Given the description of an element on the screen output the (x, y) to click on. 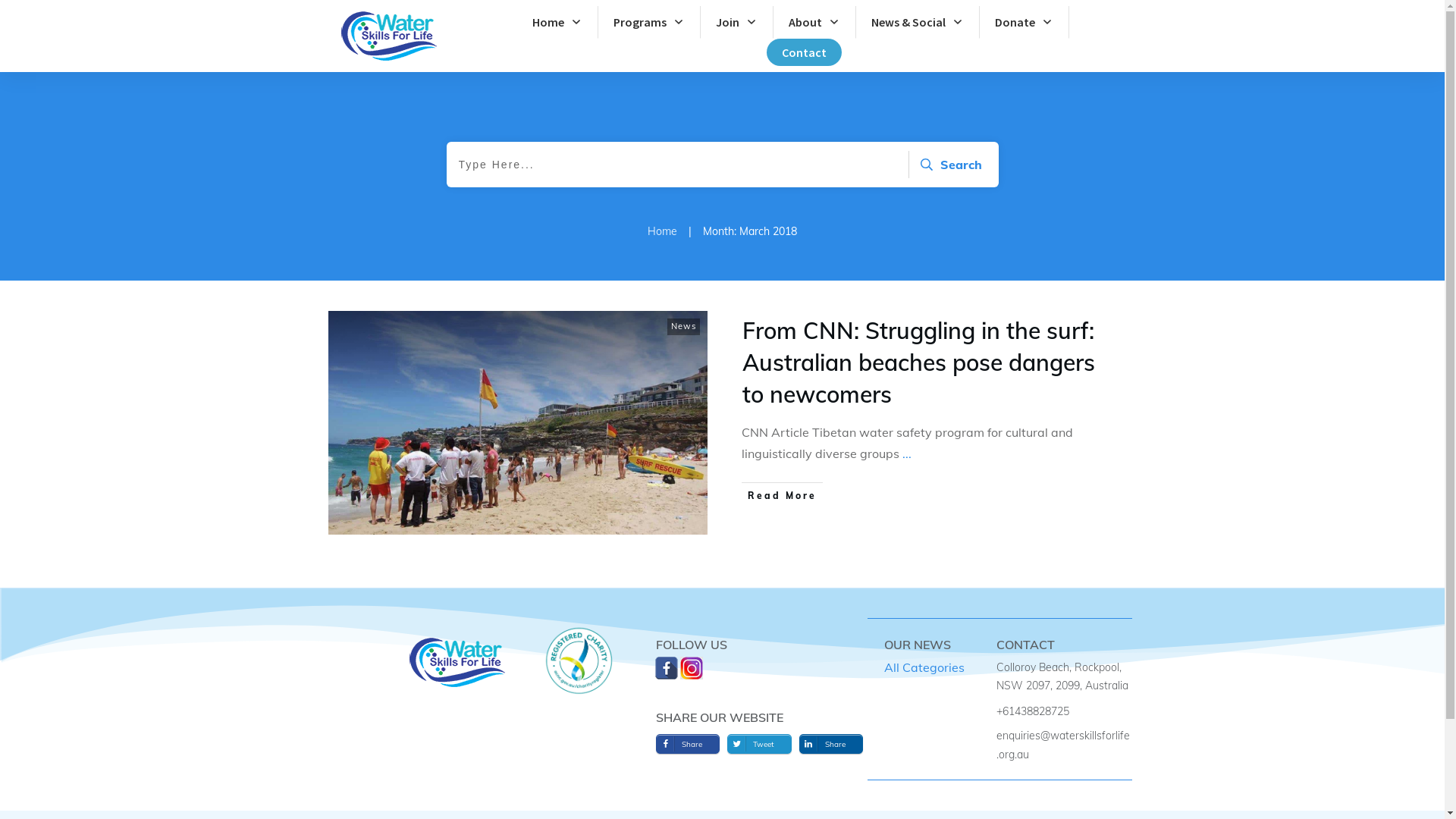
Share Element type: text (687, 743)
News Element type: text (682, 325)
Home Element type: text (557, 21)
Donate Element type: text (1023, 21)
News & Social Element type: text (917, 21)
instagram_40 Element type: hover (691, 667)
Share Element type: text (831, 743)
About Element type: text (814, 21)
ACNC Charity Element type: hover (579, 659)
Home Element type: text (662, 231)
Read More Element type: text (781, 495)
Contact Element type: text (803, 52)
... Element type: text (906, 453)
Join Element type: text (736, 21)
Search Element type: text (948, 164)
Tweet Element type: text (759, 743)
     All Categories Element type: text (916, 666)
Programs Element type: text (648, 21)
Facebook follow Element type: hover (666, 667)
